Given the description of an element on the screen output the (x, y) to click on. 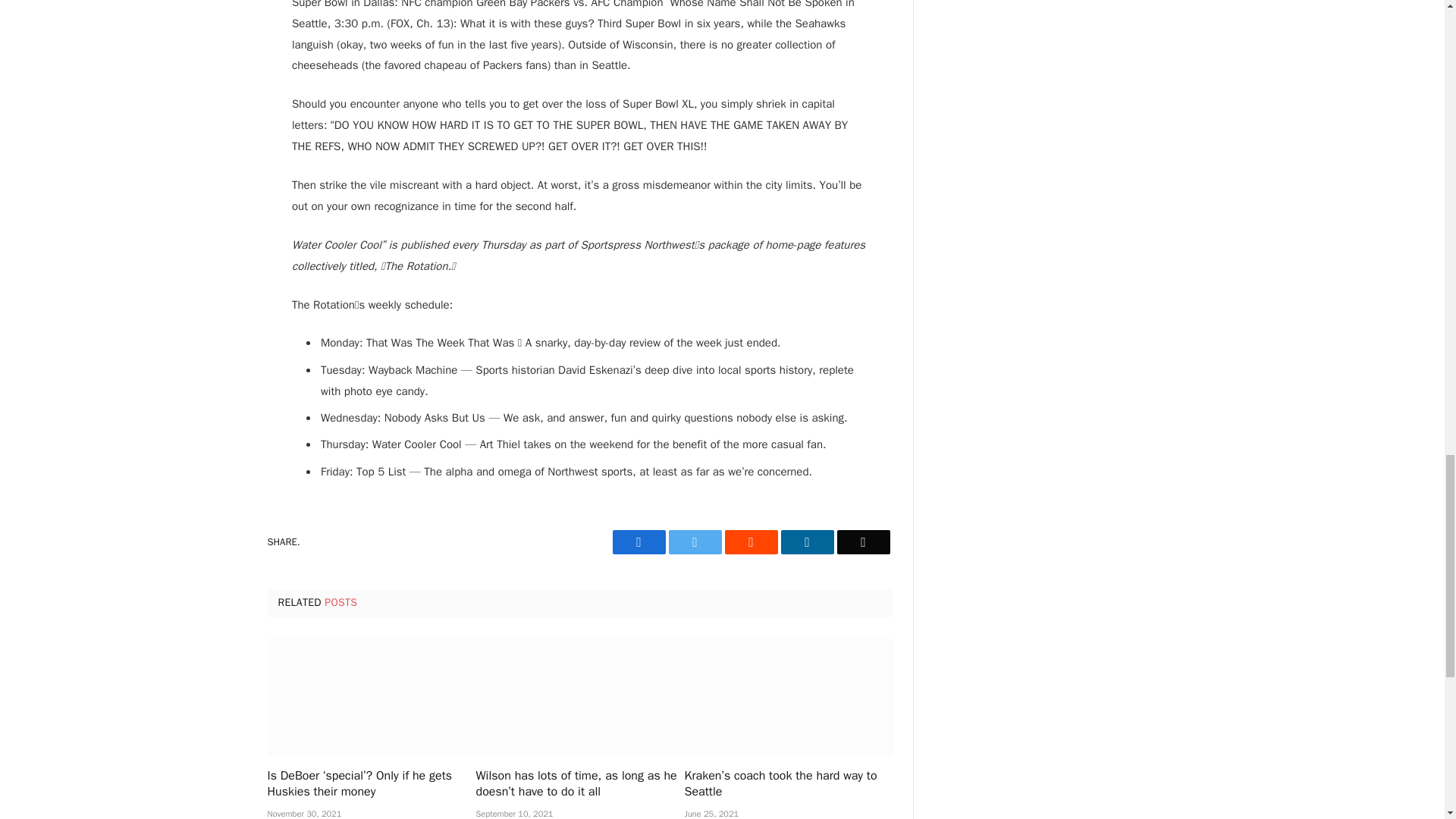
LinkedIn (807, 541)
Email (863, 541)
Facebook (638, 541)
Twitter (695, 541)
Reddit (751, 541)
